Given the description of an element on the screen output the (x, y) to click on. 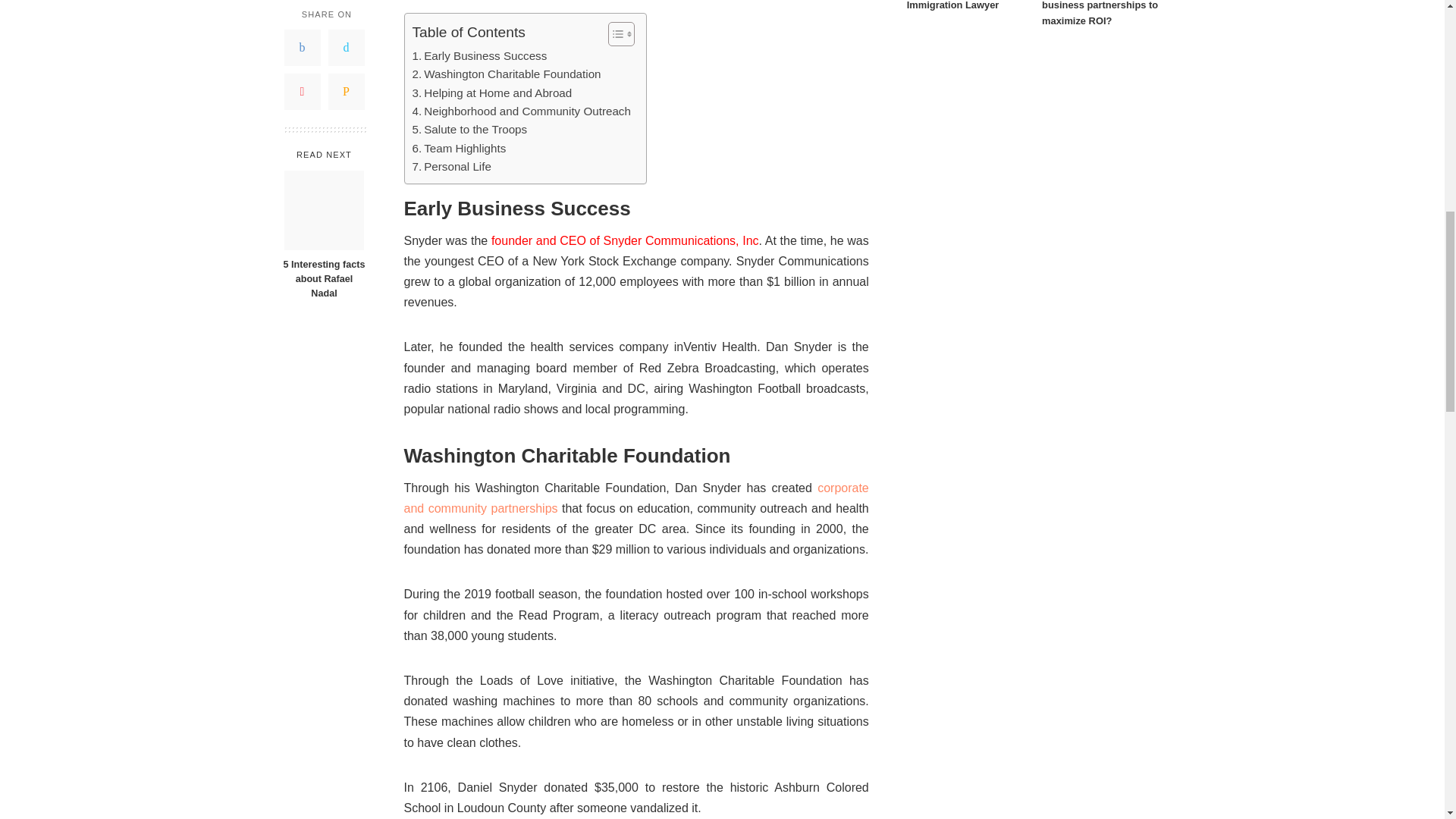
Early Business Success (479, 55)
Washington Charitable Foundation (506, 74)
5 Interesting facts about Rafael Nadal (323, 87)
5 Interesting facts about Rafael Nadal (323, 157)
5 Interesting facts about Rafael Nadal (323, 157)
Early Business Success (479, 55)
